Given the description of an element on the screen output the (x, y) to click on. 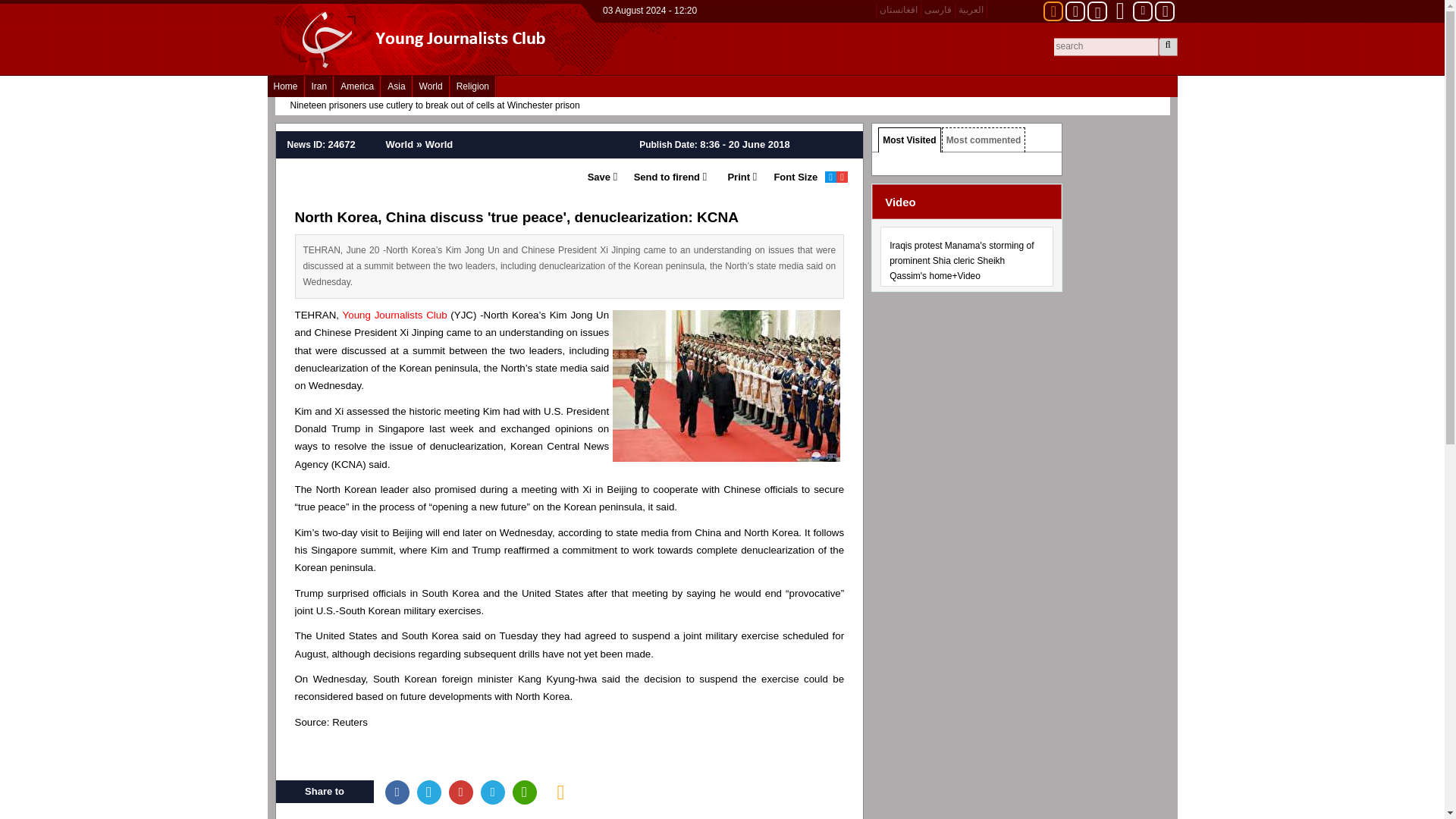
America (357, 86)
news error report (560, 792)
Religion (472, 86)
Home (284, 86)
Send to friends (661, 177)
Print (731, 177)
World (430, 86)
Save (598, 177)
Asia (395, 86)
Iran (319, 86)
